Given the description of an element on the screen output the (x, y) to click on. 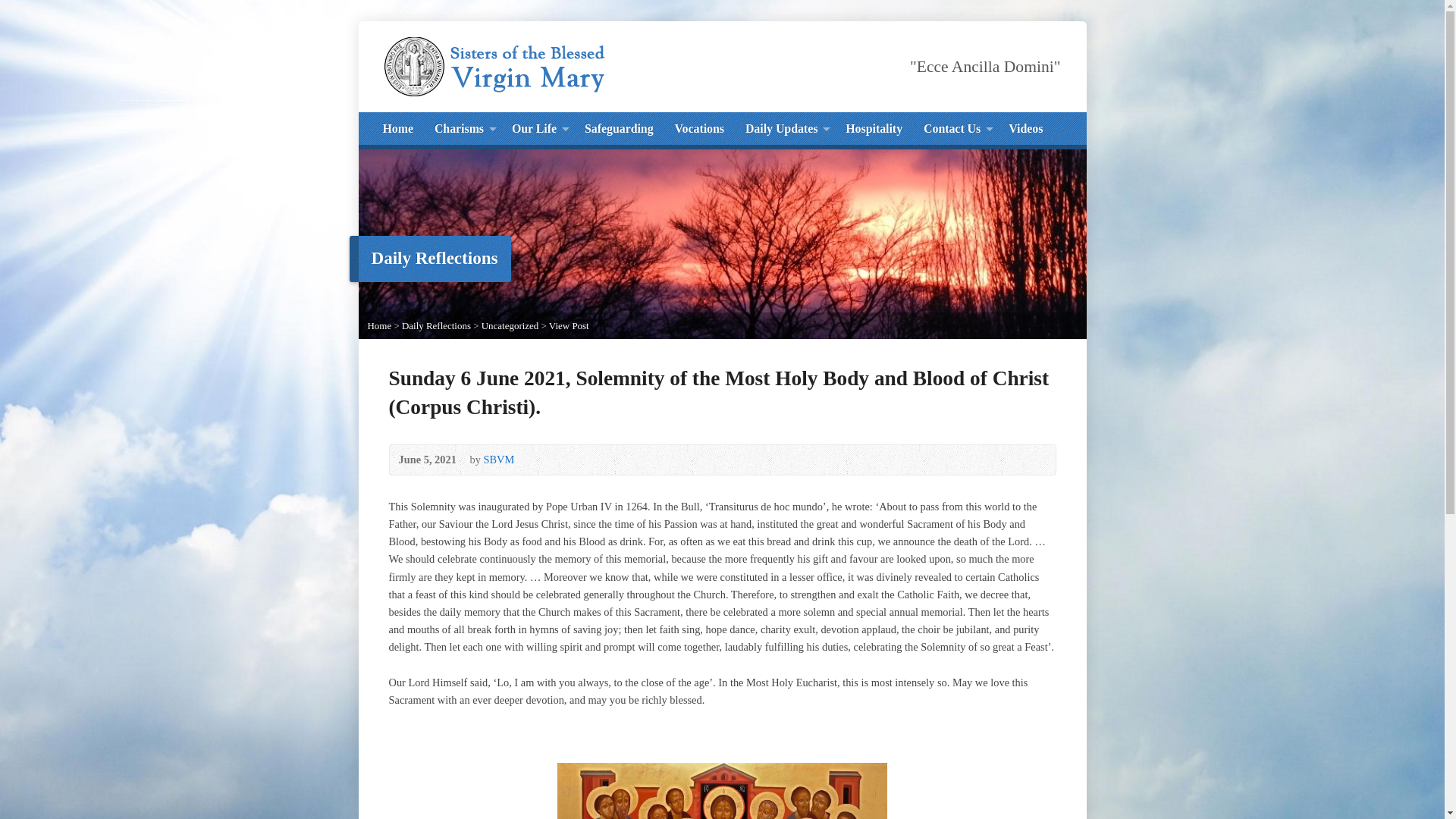
Home (378, 325)
Videos (1025, 128)
Contact Us (951, 128)
Daily Updates (780, 128)
Charisms (458, 128)
Vocations (699, 128)
SBVM (498, 459)
Our Life (534, 128)
Safeguarding (619, 128)
Home (396, 128)
Uncategorized (509, 325)
View Post (568, 325)
Hospitality (873, 128)
Daily Reflections (435, 325)
